Given the description of an element on the screen output the (x, y) to click on. 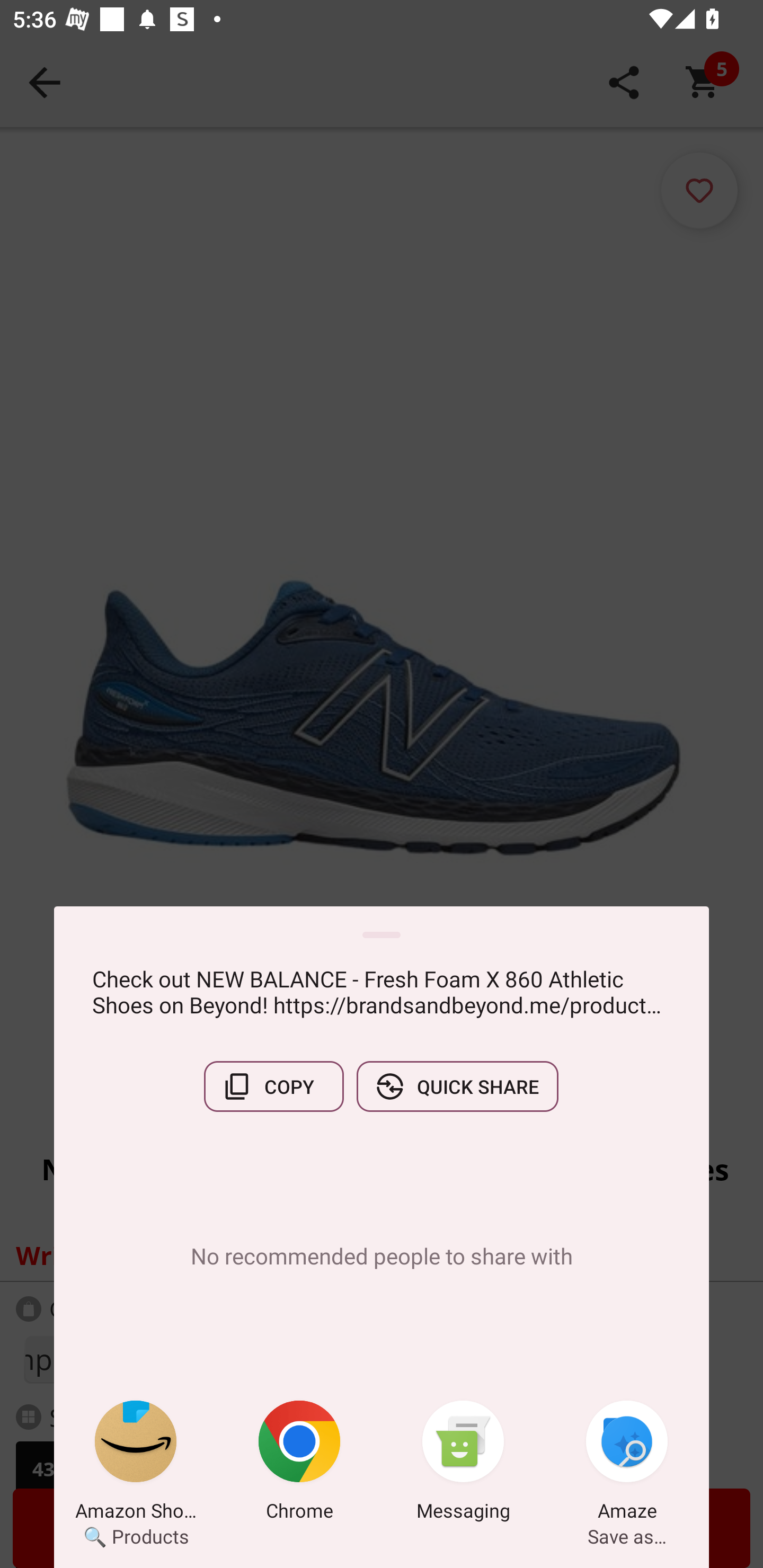
COPY (273, 1086)
QUICK SHARE (457, 1086)
Amazon Shopping 🔍 Products (135, 1463)
Chrome (299, 1463)
Messaging (463, 1463)
Amaze Save as… (626, 1463)
